Given the description of an element on the screen output the (x, y) to click on. 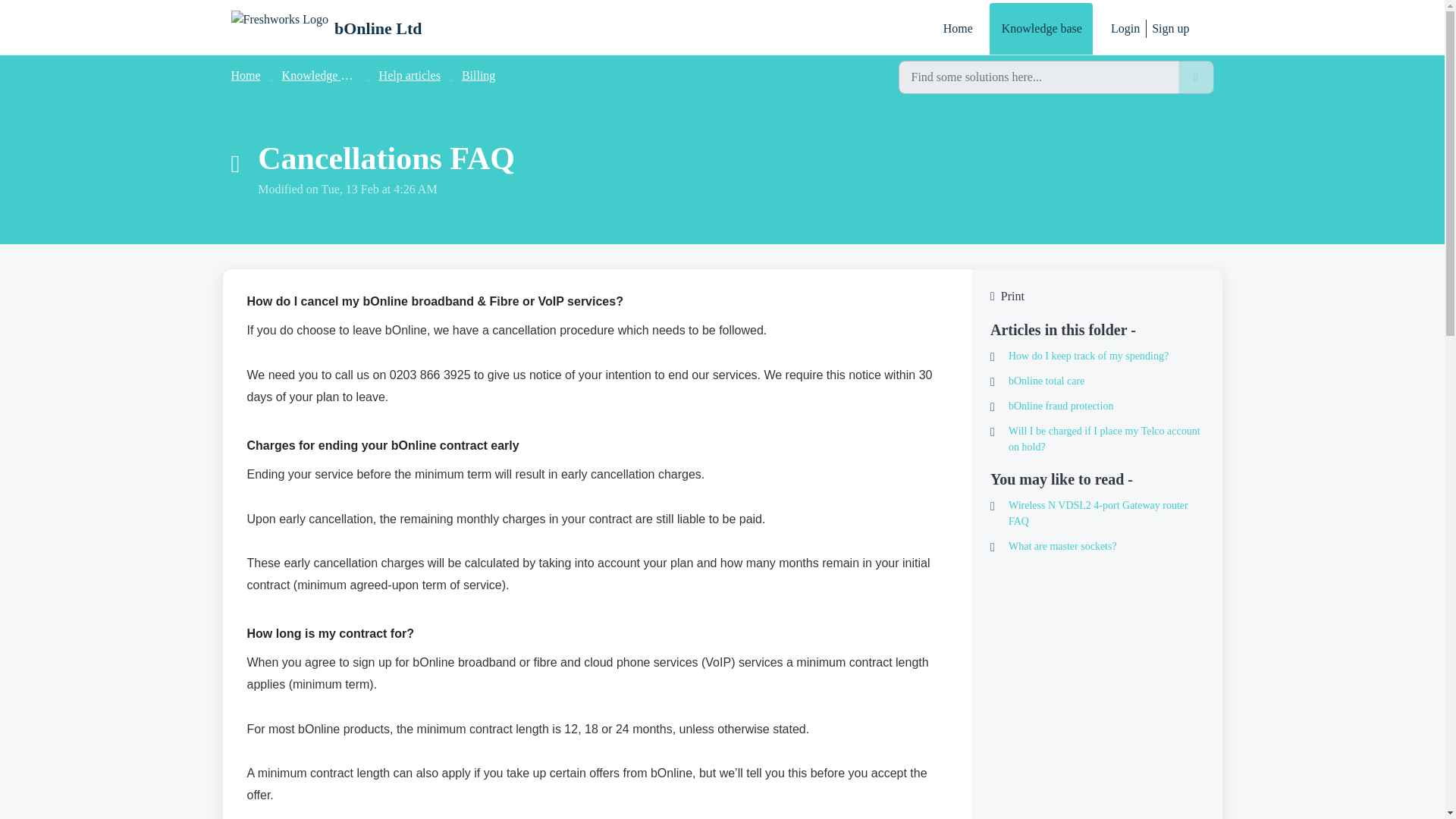
Home (245, 74)
Print (1097, 296)
Knowledge base (1041, 28)
Knowledge base (322, 74)
Home (957, 28)
bOnline Ltd (378, 28)
Wireless N VDSL2 4-port Gateway router FAQ (1097, 513)
Help articles (409, 74)
bOnline fraud protection (1097, 406)
Billing (478, 74)
What are master sockets? (1097, 546)
How do I keep track of my spending? (1097, 355)
Will I be charged if I place my Telco account on hold? (1097, 439)
bOnline total care (1097, 381)
bOnline Ltd (326, 28)
